Given the description of an element on the screen output the (x, y) to click on. 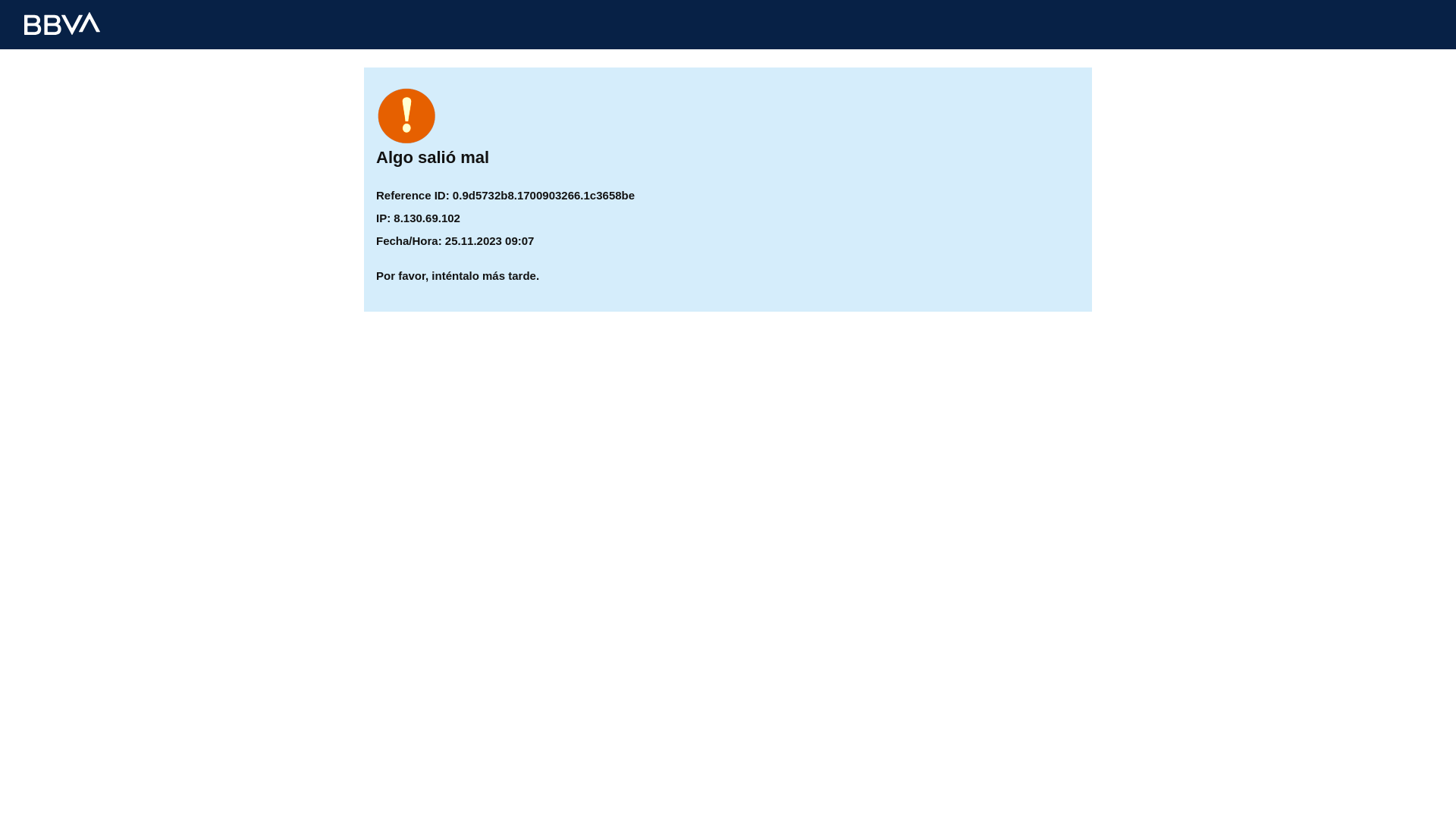
LOGO BBVA Element type: hover (62, 23)
